Given the description of an element on the screen output the (x, y) to click on. 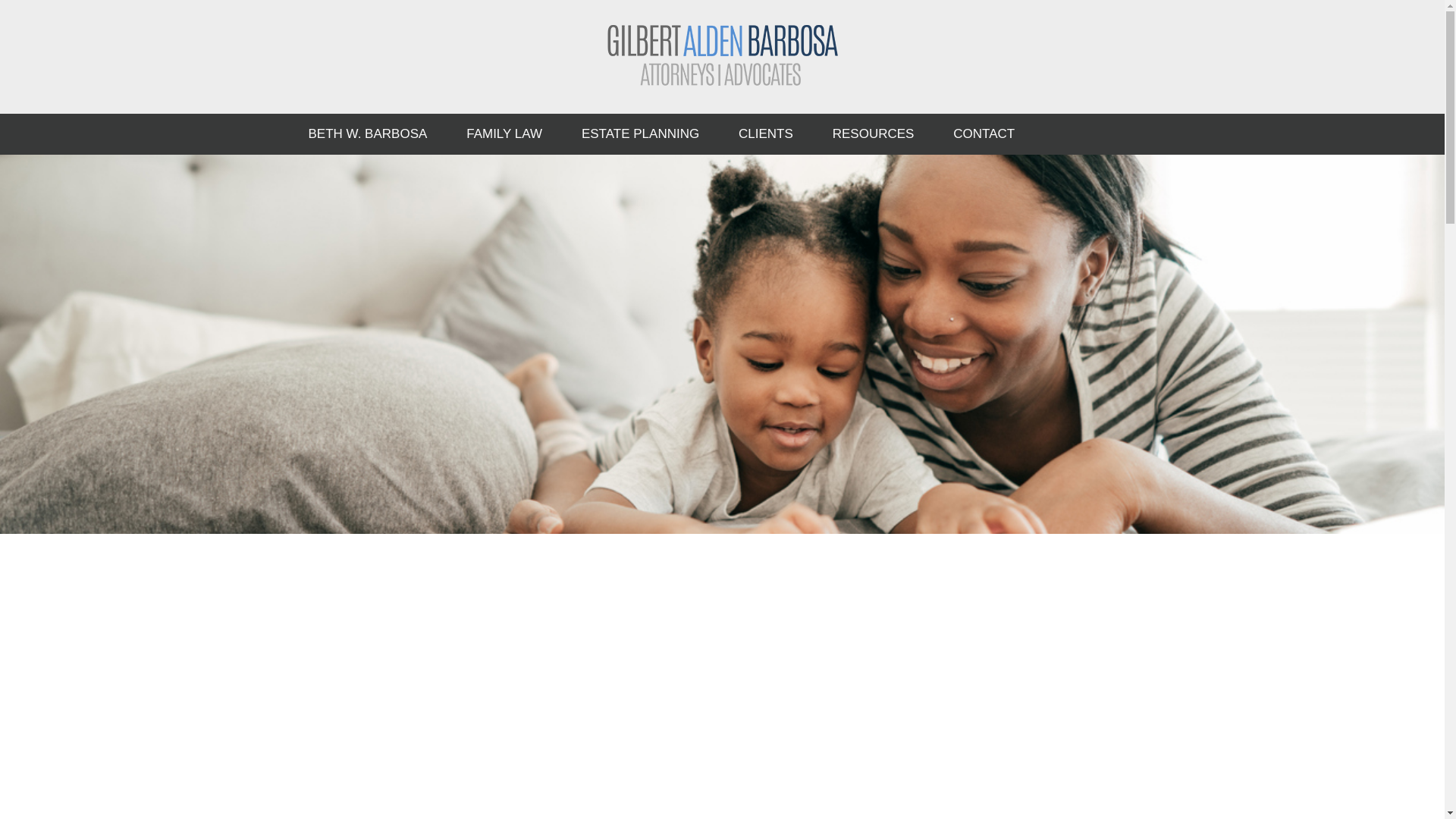
RESOURCES (873, 133)
FAMILY LAW (504, 133)
CLIENTS (765, 133)
Beth Barbosa (721, 55)
ESTATE PLANNING (640, 133)
CONTACT (983, 133)
BETH W. BARBOSA (367, 133)
